Given the description of an element on the screen output the (x, y) to click on. 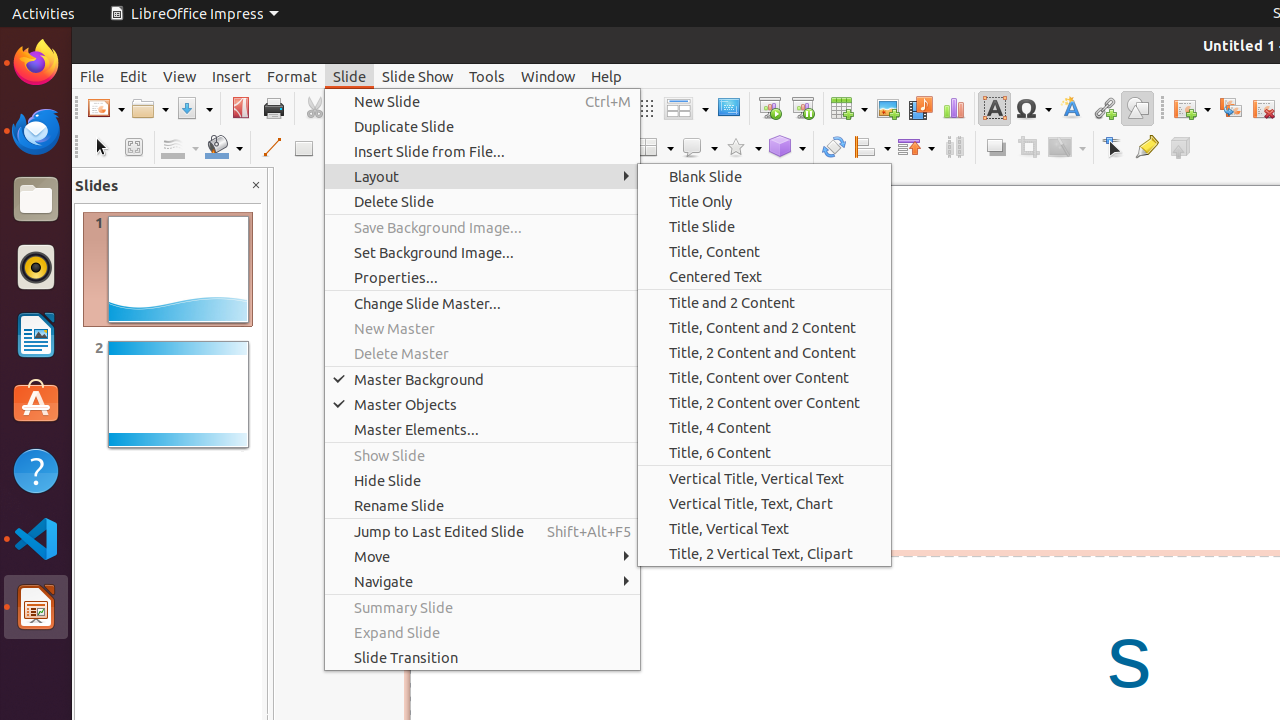
Format Element type: menu (292, 76)
Title, Content and 2 Content Element type: menu-item (764, 327)
Hide Slide Element type: menu-item (482, 480)
Rectangle Element type: push-button (303, 147)
Title, 6 Content Element type: menu-item (764, 452)
